Given the description of an element on the screen output the (x, y) to click on. 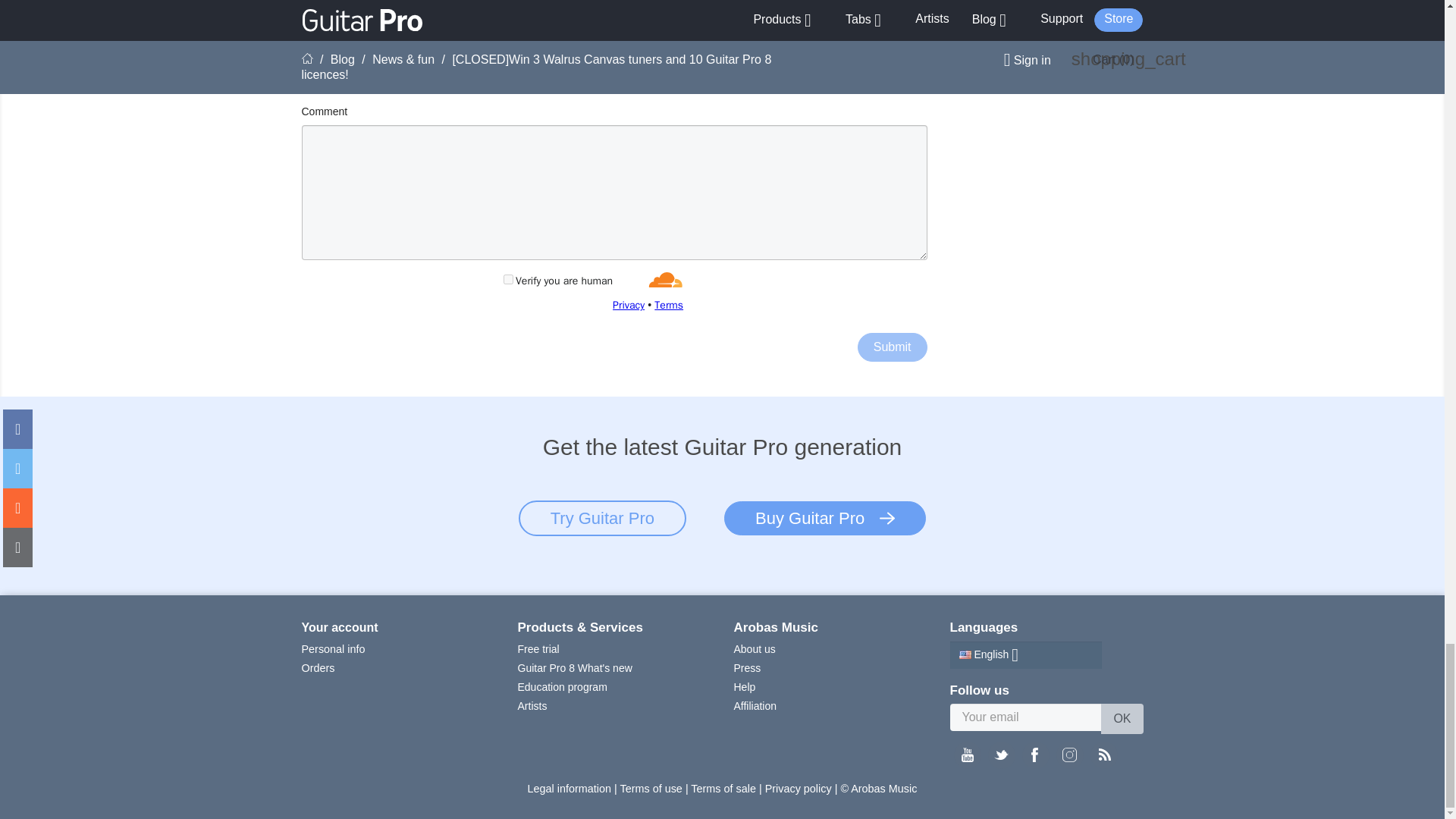
Guitar Pro 8 What's new (573, 667)
Arobas Music (775, 626)
Help (744, 686)
Press (747, 667)
Free trial (537, 648)
Ok (1121, 718)
Education program (561, 686)
About us (754, 648)
Artists (531, 705)
Affiliation (755, 705)
